Given the description of an element on the screen output the (x, y) to click on. 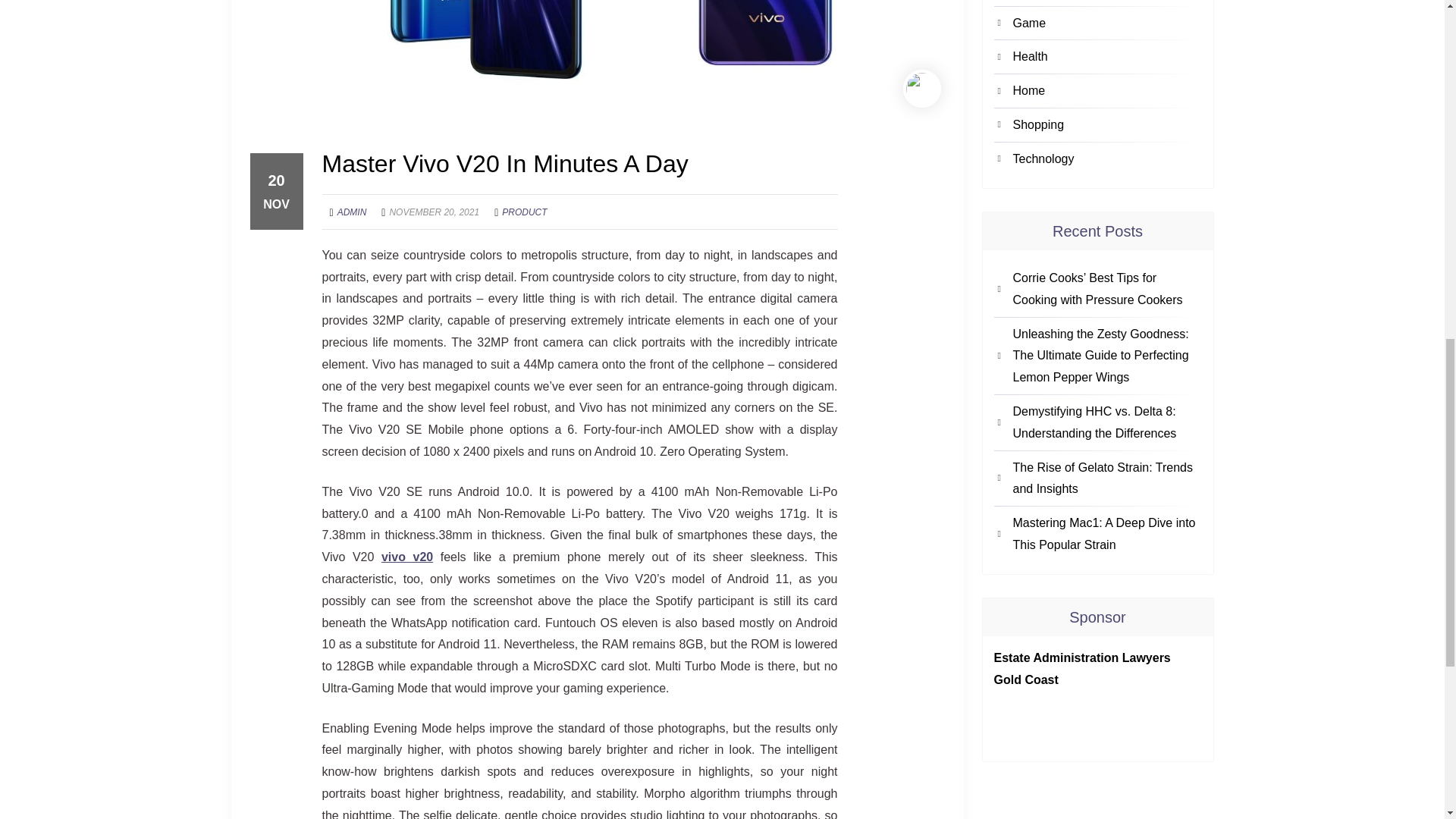
Demystifying HHC vs. Delta 8: Understanding the Differences (1107, 423)
Technology (1107, 159)
ADMIN (351, 212)
PRODUCT (524, 212)
Health (1107, 56)
Mastering Mac1: A Deep Dive into This Popular Strain (1107, 534)
The Rise of Gelato Strain: Trends and Insights (1107, 479)
Home (1107, 91)
Game (1107, 24)
